Given the description of an element on the screen output the (x, y) to click on. 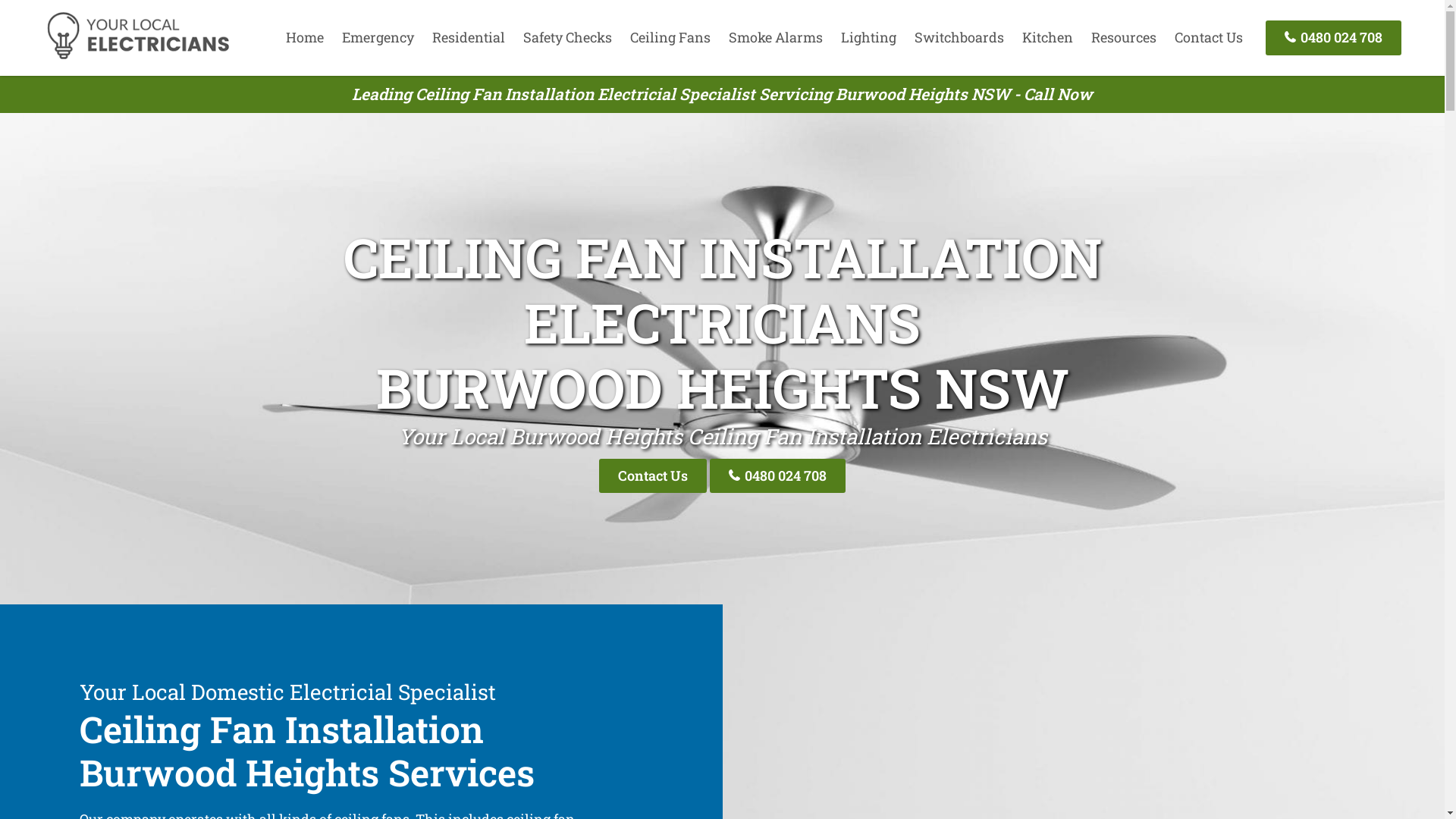
Electricians Element type: hover (137, 56)
Residential Element type: text (468, 37)
Contact Us Element type: text (1208, 37)
Contact Us Element type: text (652, 475)
Safety Checks Element type: text (567, 37)
0480 024 708 Element type: text (1333, 37)
Ceiling Fans Element type: text (670, 37)
Kitchen Element type: text (1047, 37)
Resources Element type: text (1123, 37)
Lighting Element type: text (868, 37)
0480 024 708 Element type: text (777, 475)
Smoke Alarms Element type: text (775, 37)
Switchboards Element type: text (958, 37)
Home Element type: text (304, 37)
Emergency Element type: text (377, 37)
